Given the description of an element on the screen output the (x, y) to click on. 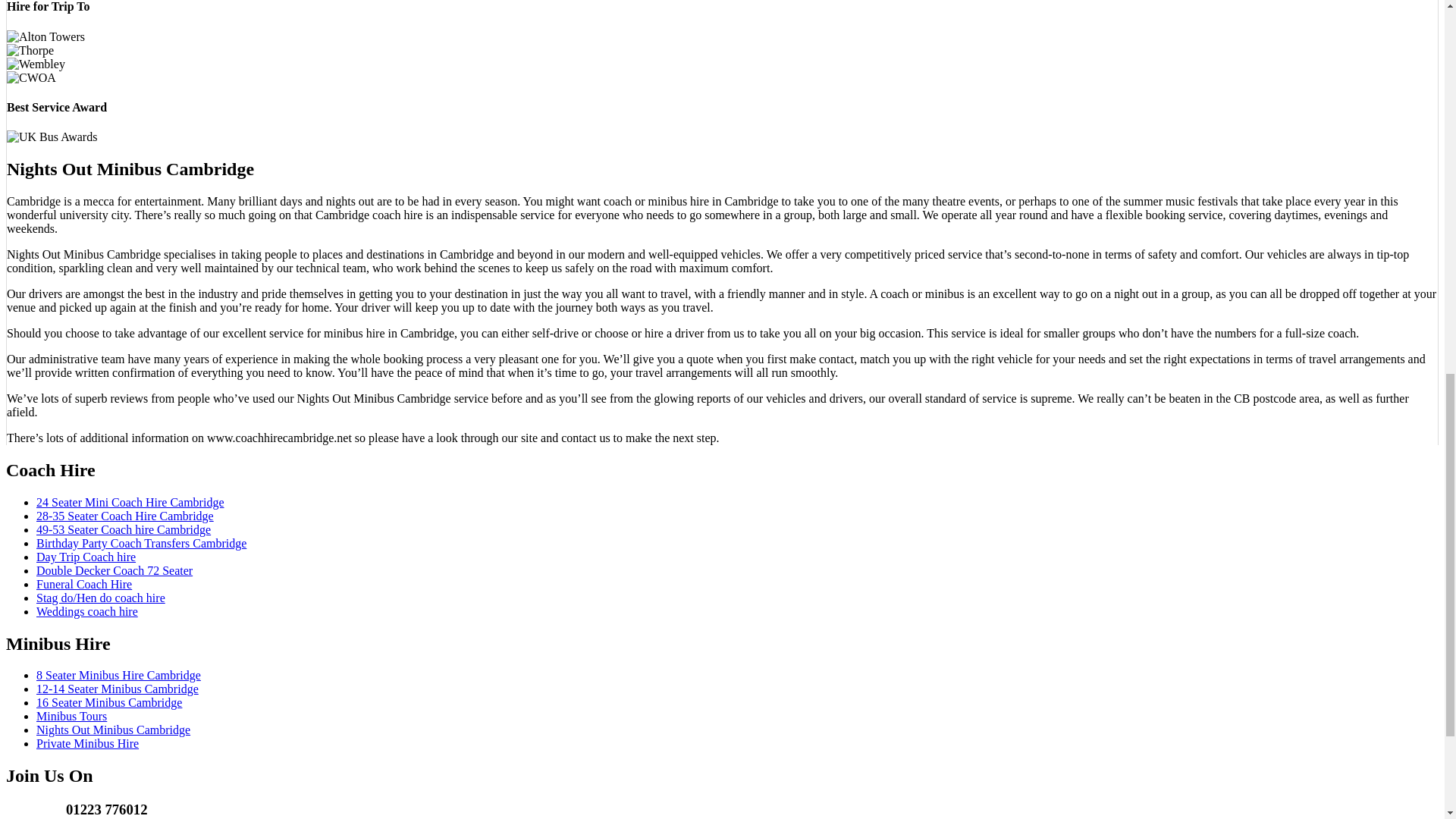
49-53 Seater Coach hire Cambridge (123, 529)
Birthday Party Coach Transfers Cambridge (141, 543)
28-35 Seater Coach Hire Cambridge (125, 515)
24 Seater Mini Coach Hire Cambridge (130, 502)
